Given the description of an element on the screen output the (x, y) to click on. 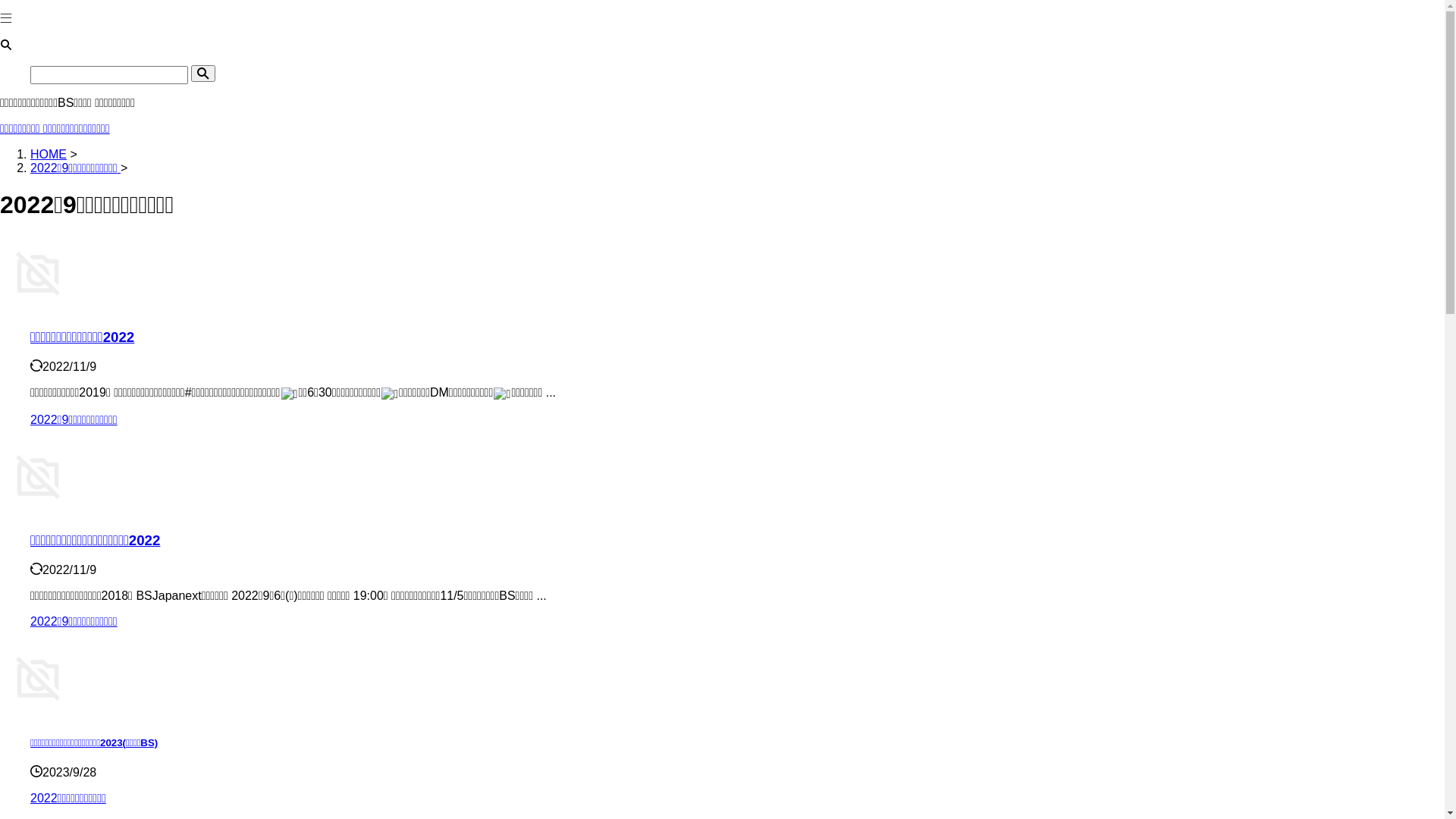
no image Element type: hover (37, 273)
no image Element type: hover (37, 678)
HOME Element type: text (48, 153)
no image Element type: hover (37, 476)
